Given the description of an element on the screen output the (x, y) to click on. 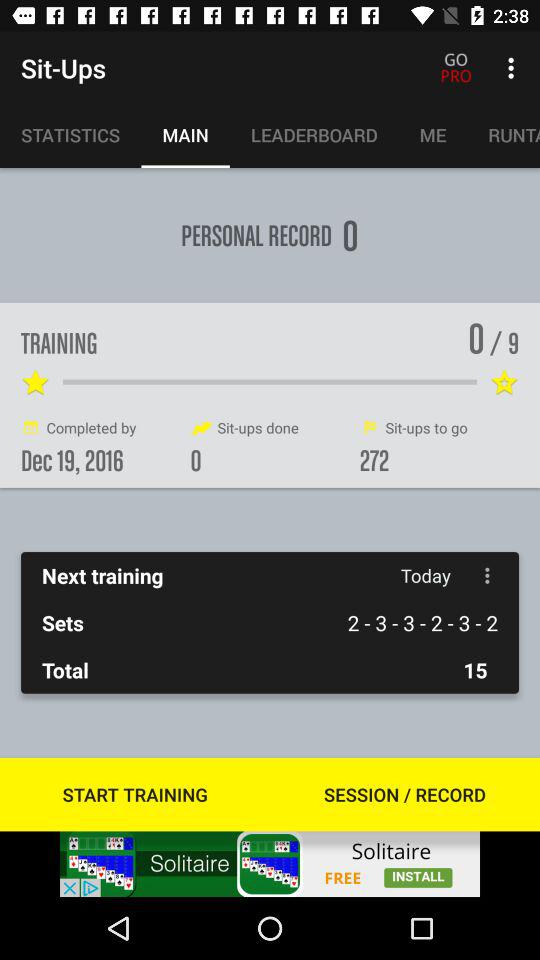
install app (270, 864)
